Given the description of an element on the screen output the (x, y) to click on. 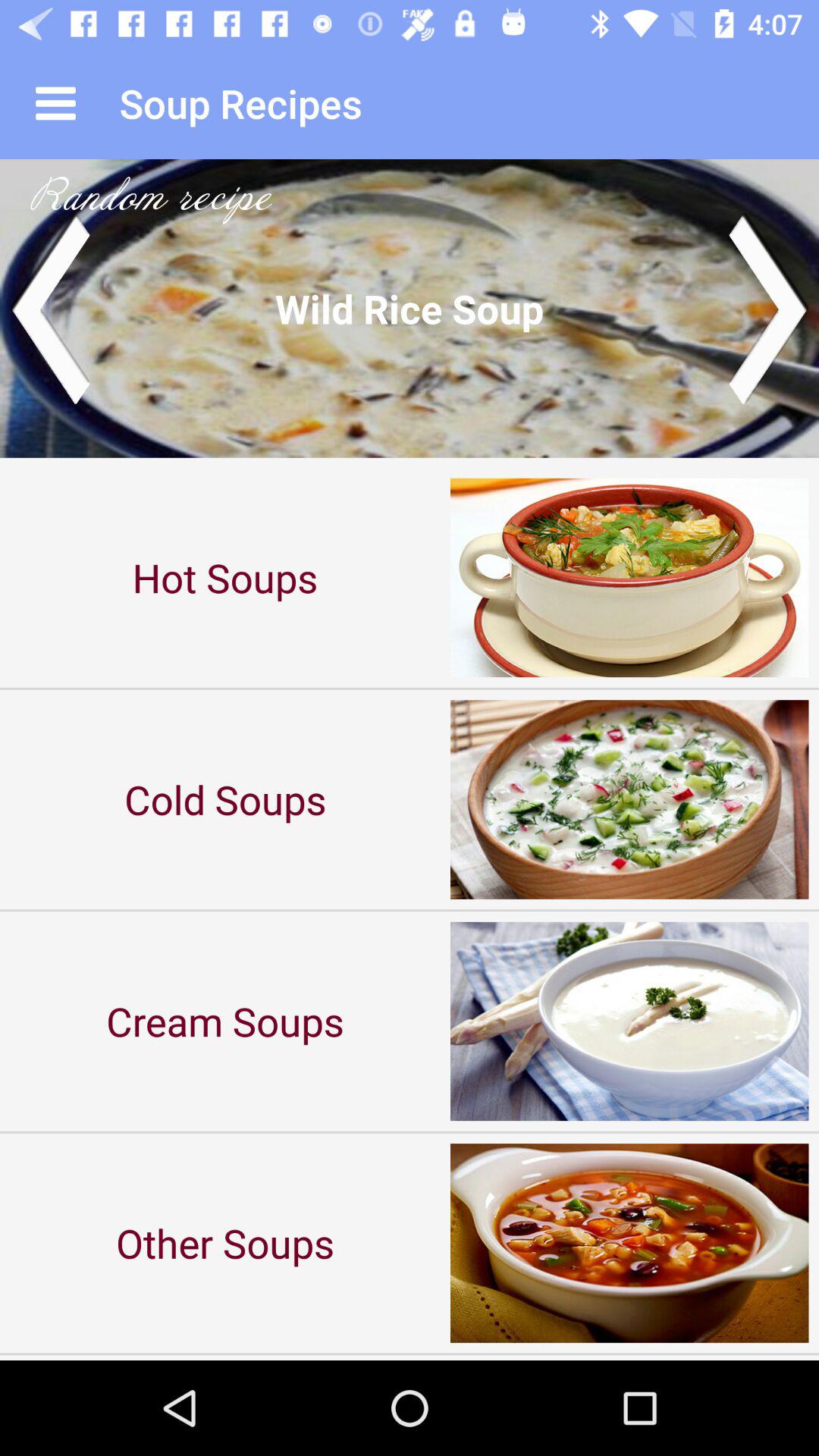
go to next image (769, 308)
